Given the description of an element on the screen output the (x, y) to click on. 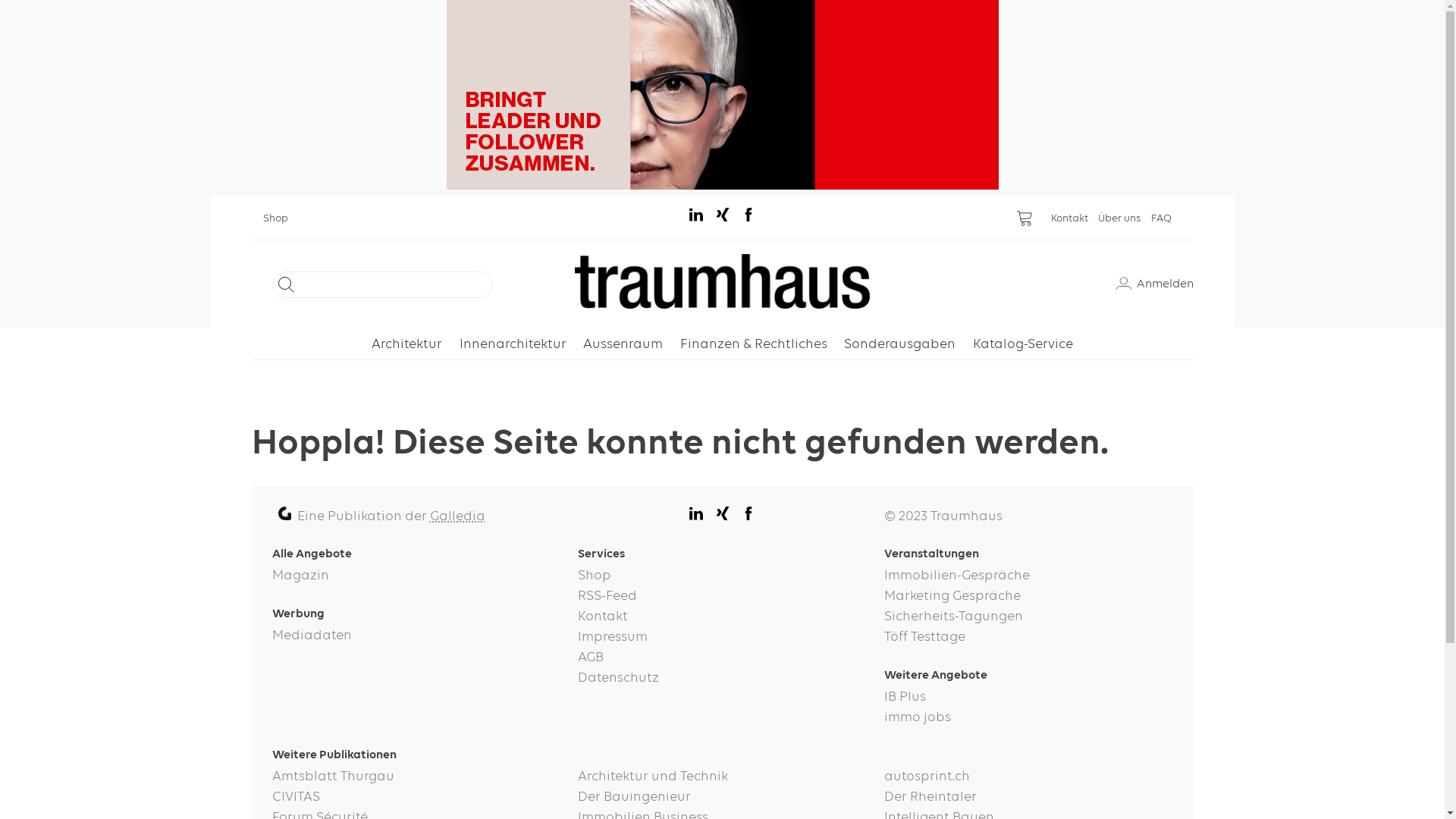
Bitte hier klicken Element type: hover (721, 94)
Innenarchitektur Element type: text (512, 344)
Finanzen & Rechtliches Element type: text (753, 344)
Datenschutz Element type: text (721, 678)
Kontakt Element type: text (721, 616)
Katalog-Service Element type: text (1022, 344)
immo jobs Element type: text (1028, 717)
Architektur und Technik Element type: text (721, 776)
RSS-Feed Element type: text (721, 596)
CIVITAS Element type: text (415, 797)
Der Bauingenieur Element type: text (721, 797)
Sonderausgaben Element type: text (899, 344)
AGB Element type: text (721, 657)
Der Rheintaler Element type: text (1028, 797)
IB Plus Element type: text (1028, 697)
Shop Element type: text (280, 218)
Shop Element type: text (721, 575)
Magazin Element type: text (415, 575)
Kontakt Element type: text (1074, 218)
Anmelden Element type: text (1154, 284)
autosprint.ch Element type: text (1028, 776)
Aussenraum Element type: text (622, 344)
Skip to content Element type: text (250, 195)
Impressum Element type: text (721, 637)
Galledia Element type: text (457, 516)
Amtsblatt Thurgau Element type: text (415, 776)
Sicherheits-Tagungen Element type: text (1028, 616)
FAQ Element type: text (1166, 218)
Mediadaten Element type: text (415, 635)
Architektur Element type: text (406, 344)
